Given the description of an element on the screen output the (x, y) to click on. 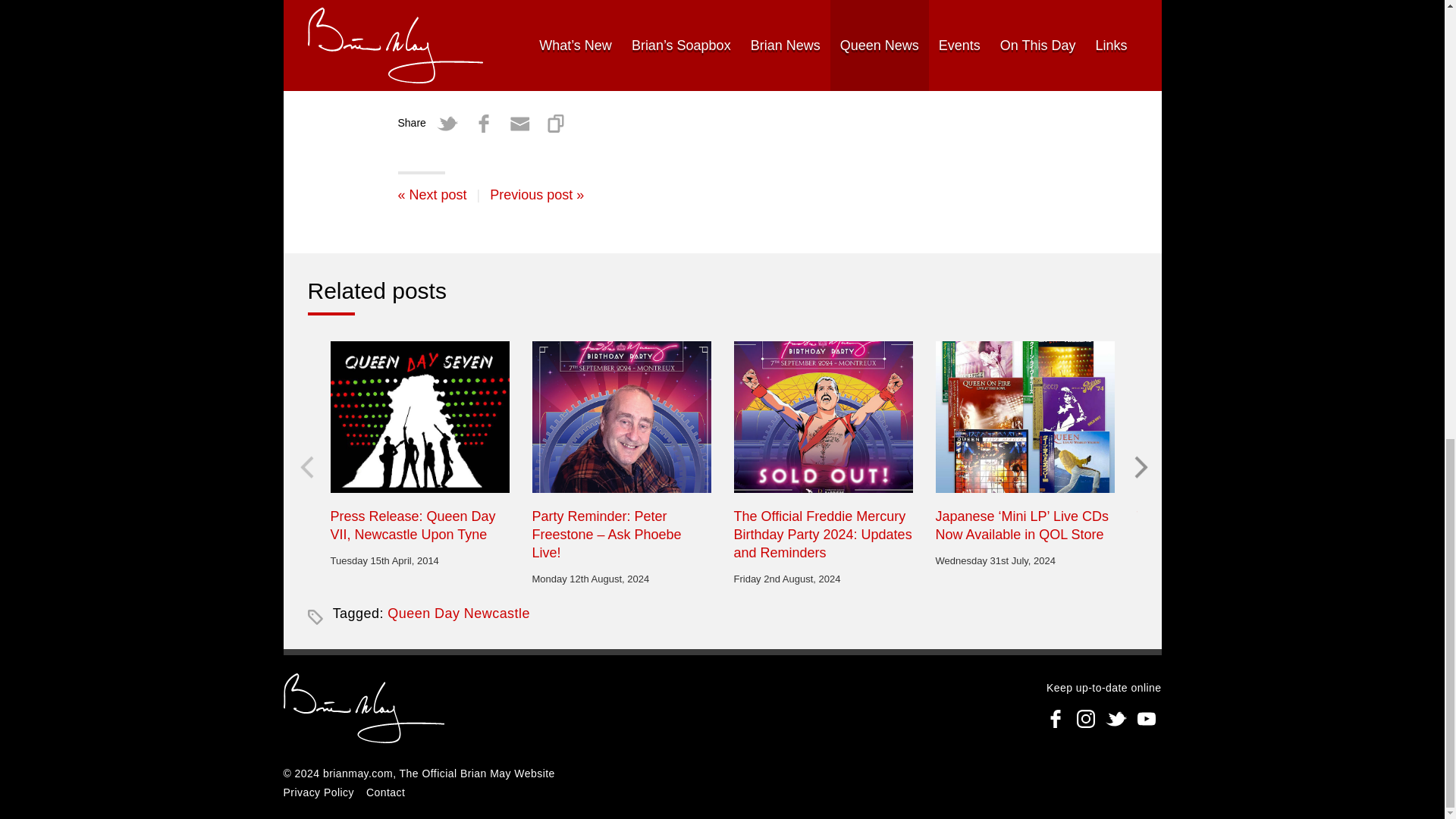
Follow BrianMay.com on facebook (1055, 718)
Cruise Musicals: Drama on the High Seas (536, 194)
Bo Rhap features in the "10 Songs Nobody Understands" (431, 194)
Follow Brian May on YouTube (1146, 718)
brianmay.com (364, 710)
Follow BrianMay.com on Instagram (1085, 718)
Follow Brian May on Twitter (1115, 718)
brianmay.com (358, 773)
